Given the description of an element on the screen output the (x, y) to click on. 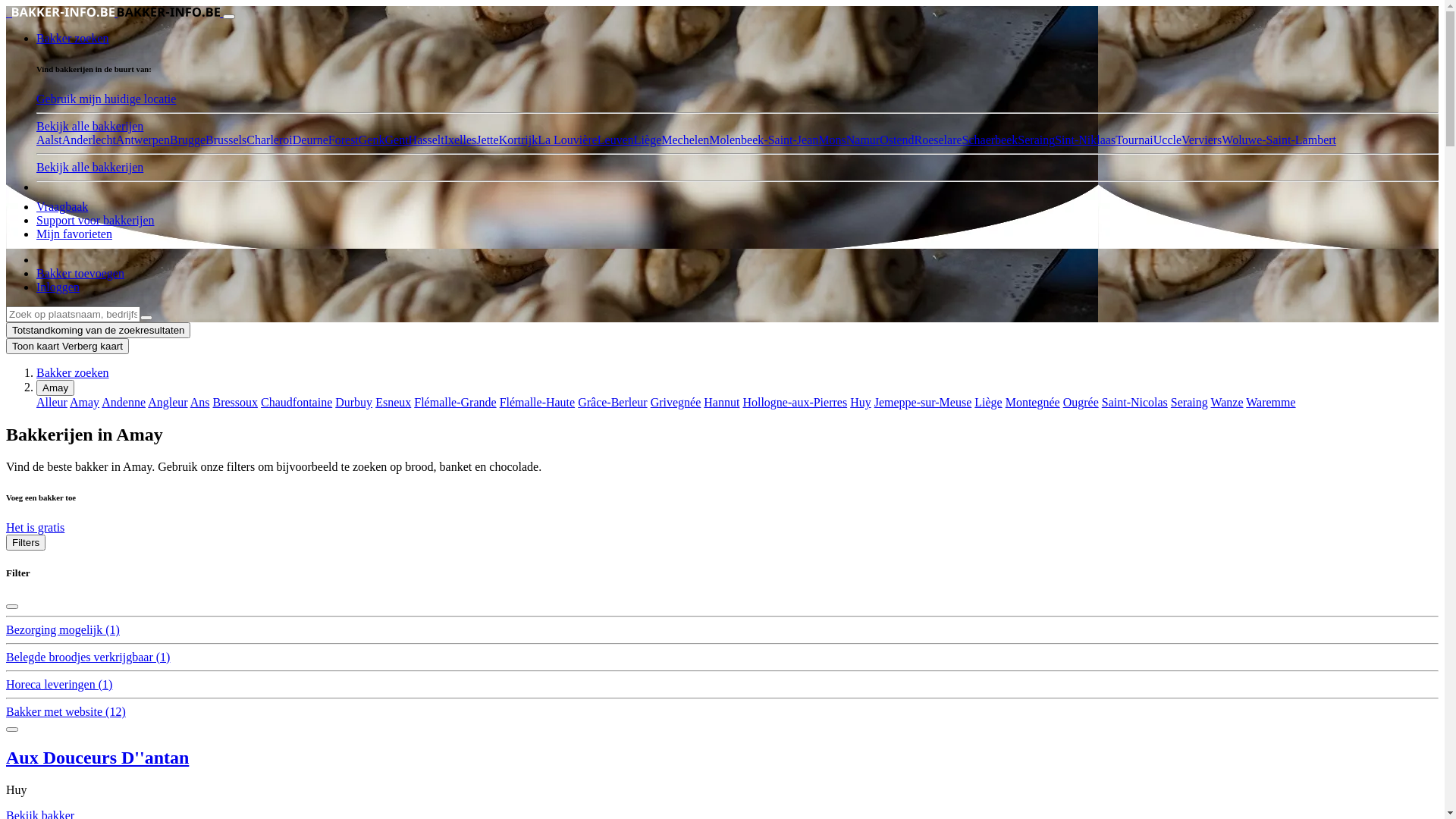
Totstandkoming van de zoekresultaten Element type: text (98, 330)
Aalst Element type: text (49, 139)
Durbuy Element type: text (353, 401)
Jemeppe-sur-Meuse Element type: text (923, 401)
Uccle Element type: text (1167, 139)
Waremme Element type: text (1270, 401)
Het is gratis Element type: text (35, 526)
Molenbeek-Saint-Jean Element type: text (763, 139)
Verviers Element type: text (1201, 139)
Amay Element type: text (84, 401)
Vraagbaak Element type: text (61, 206)
Forest Element type: text (343, 139)
Namur Element type: text (862, 139)
Bakker zoeken Element type: text (72, 37)
Gent Element type: text (395, 139)
Bekijk alle bakkerijen Element type: text (89, 125)
Bressoux Element type: text (234, 401)
Seraing Element type: text (1035, 139)
Mechelen Element type: text (685, 139)
Roeselare Element type: text (938, 139)
Deurne Element type: text (310, 139)
Tournai Element type: text (1134, 139)
Bakker zoeken Element type: text (72, 372)
Jette Element type: text (487, 139)
Ostend Element type: text (896, 139)
Bekijk alle bakkerijen Element type: text (89, 166)
Woluwe-Saint-Lambert Element type: text (1278, 139)
Sint-Niklaas Element type: text (1084, 139)
Belegde broodjes verkrijgbaar (1) Element type: text (87, 656)
Bezorging mogelijk (1) Element type: text (62, 629)
Seraing Element type: text (1189, 401)
Gebruik mijn huidige locatie Element type: text (105, 98)
Hollogne-aux-Pierres Element type: text (794, 401)
Mons Element type: text (831, 139)
Brugge Element type: text (187, 139)
Esneux Element type: text (393, 401)
Anderlecht Element type: text (89, 139)
Chaudfontaine Element type: text (296, 401)
Antwerpen Element type: text (142, 139)
Leuven Element type: text (615, 139)
Bakker toevoegen Element type: text (80, 272)
Huy Element type: text (860, 401)
Ixelles Element type: text (460, 139)
Aux Douceurs D''antan Element type: text (97, 757)
Angleur Element type: text (167, 401)
Amay Element type: text (55, 387)
Bakker met website (12) Element type: text (65, 711)
Charleroi Element type: text (268, 139)
Kortrijk Element type: text (518, 139)
Hannut Element type: text (721, 401)
Schaerbeek Element type: text (990, 139)
Horeca leveringen (1) Element type: text (59, 683)
Inloggen Element type: text (57, 286)
Ans Element type: text (200, 401)
Alleur Element type: text (51, 401)
Support voor bakkerijen Element type: text (95, 219)
Hasselt Element type: text (426, 139)
Andenne Element type: text (123, 401)
Toon kaart Verberg kaart Element type: text (67, 346)
Wanze Element type: text (1226, 401)
Mijn favorieten Element type: text (74, 233)
Genk Element type: text (371, 139)
Saint-Nicolas Element type: text (1134, 401)
Filters Element type: text (25, 542)
Brussels Element type: text (225, 139)
